Given the description of an element on the screen output the (x, y) to click on. 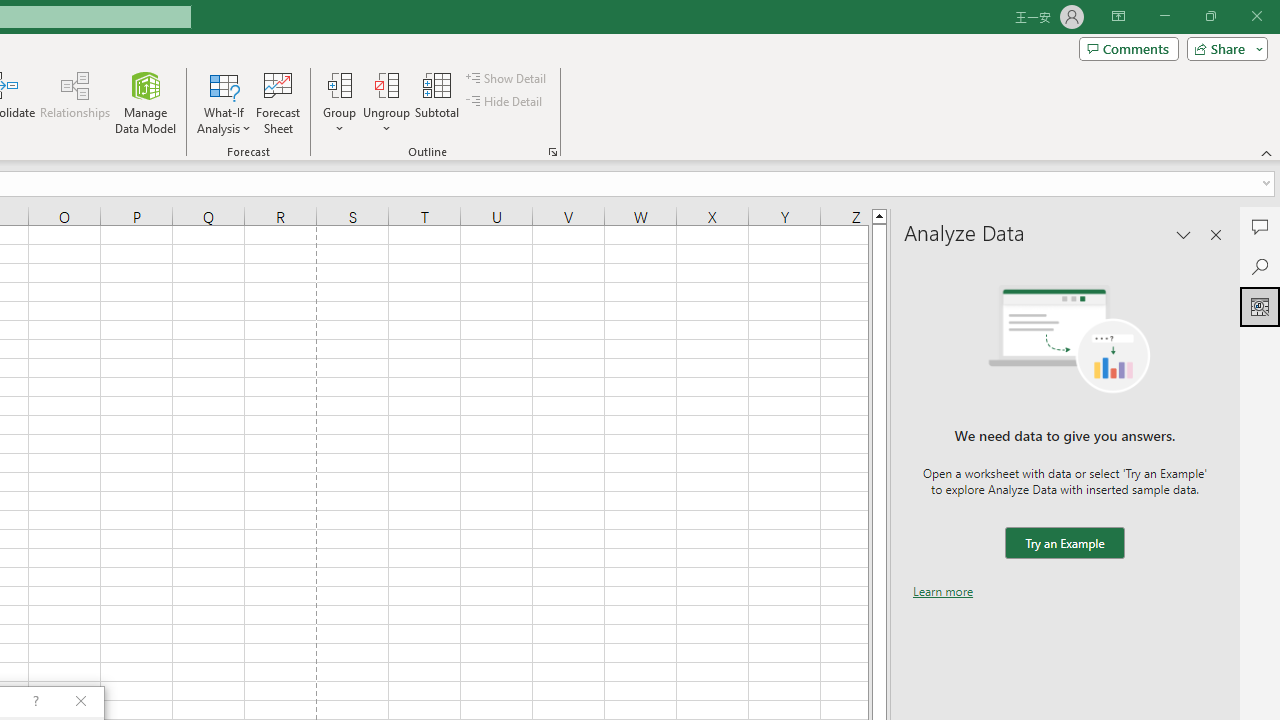
Close pane (1215, 234)
Show Detail (507, 78)
Forecast Sheet (278, 102)
Subtotal (437, 102)
Task Pane Options (1183, 234)
Relationships (75, 102)
Manage Data Model (145, 102)
